Given the description of an element on the screen output the (x, y) to click on. 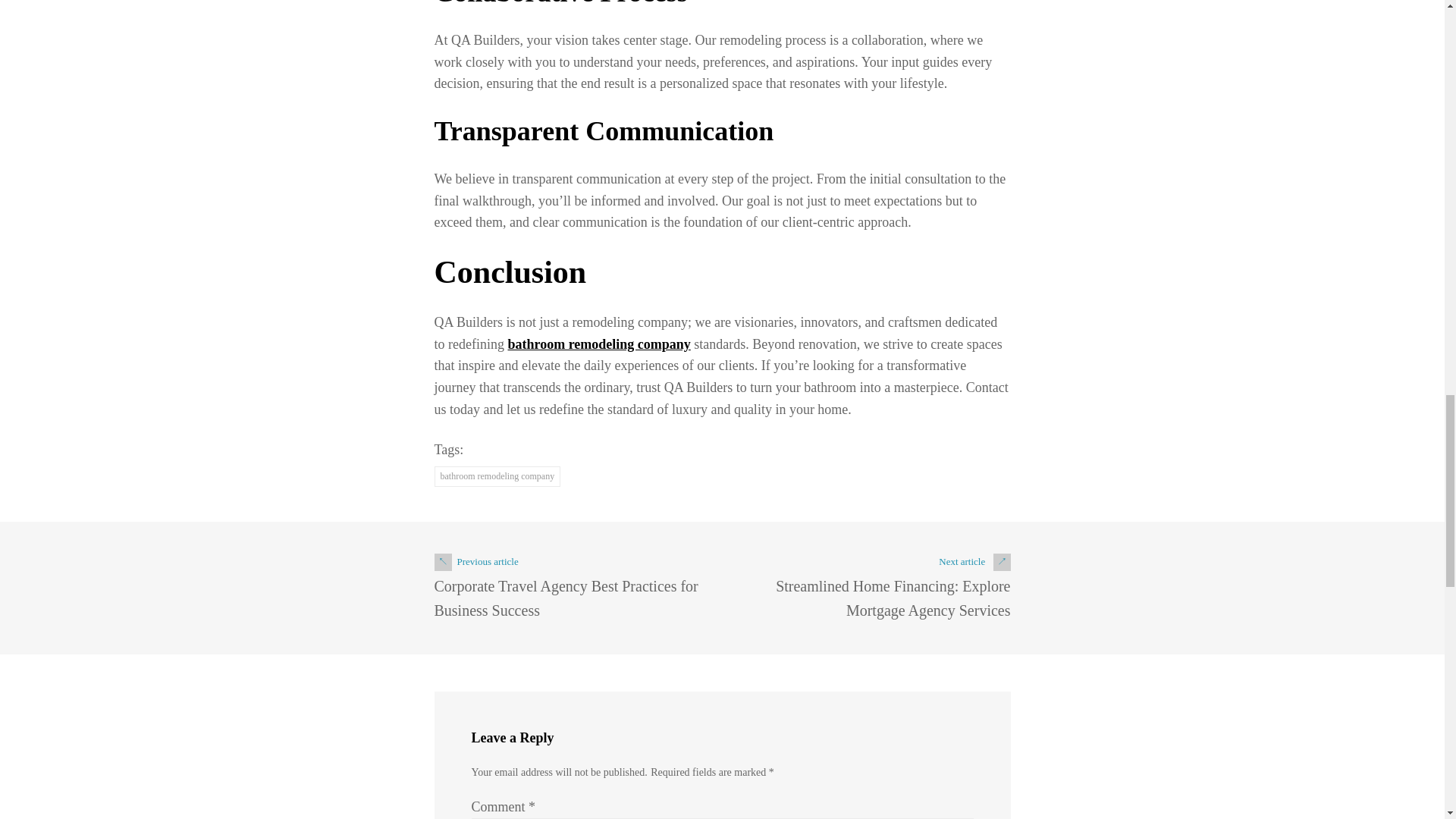
bathroom remodeling company (598, 344)
bathroom remodeling company (496, 476)
